Given the description of an element on the screen output the (x, y) to click on. 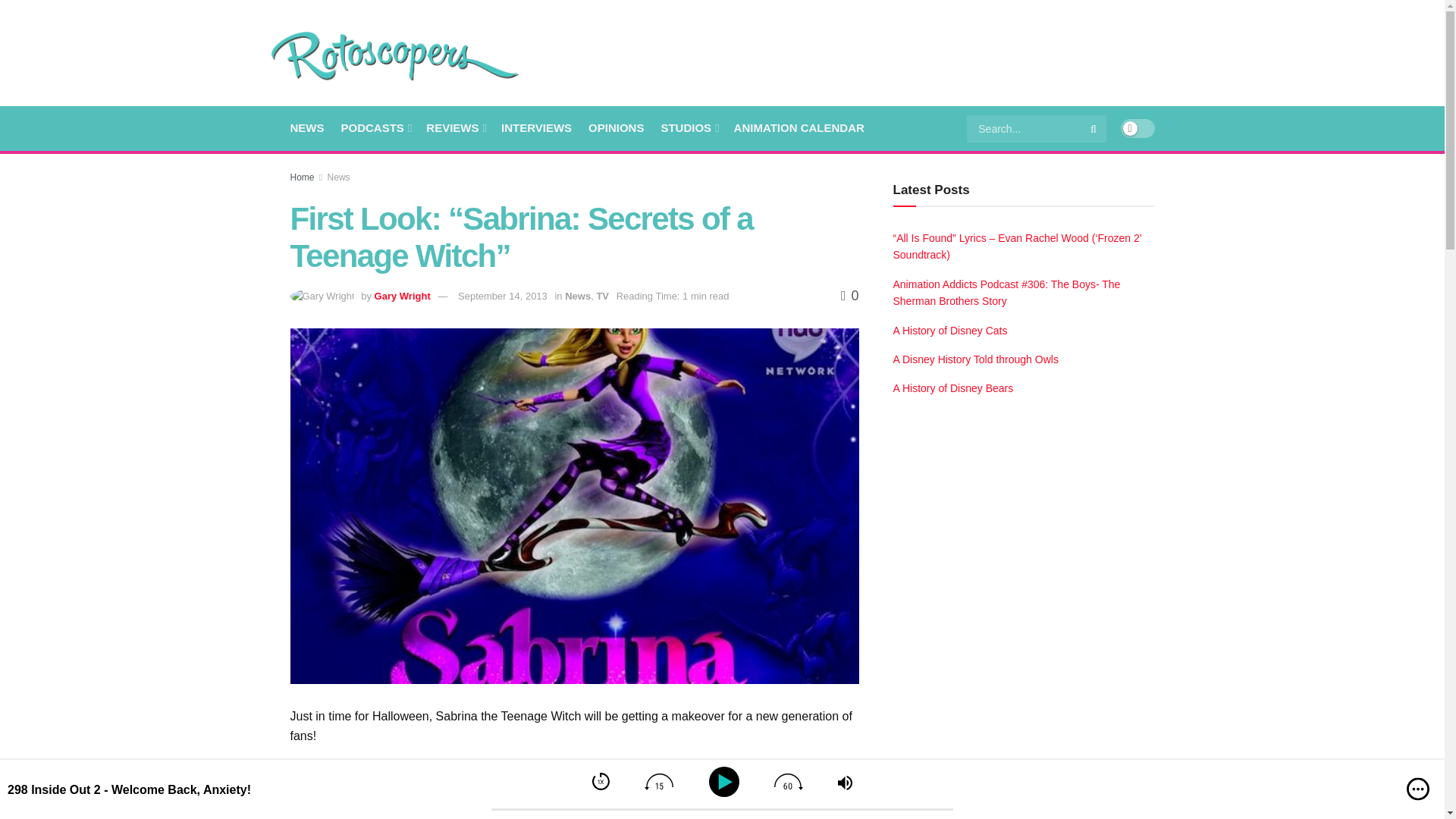
PODCASTS (375, 127)
More (1417, 789)
REVIEWS (455, 127)
Back 15 seconds (658, 781)
ANIMATION CALENDAR (798, 127)
STUDIOS (688, 127)
OPINIONS (615, 127)
Forward 60 seconds (788, 781)
INTERVIEWS (536, 127)
Speed: Normal (601, 781)
